Given the description of an element on the screen output the (x, y) to click on. 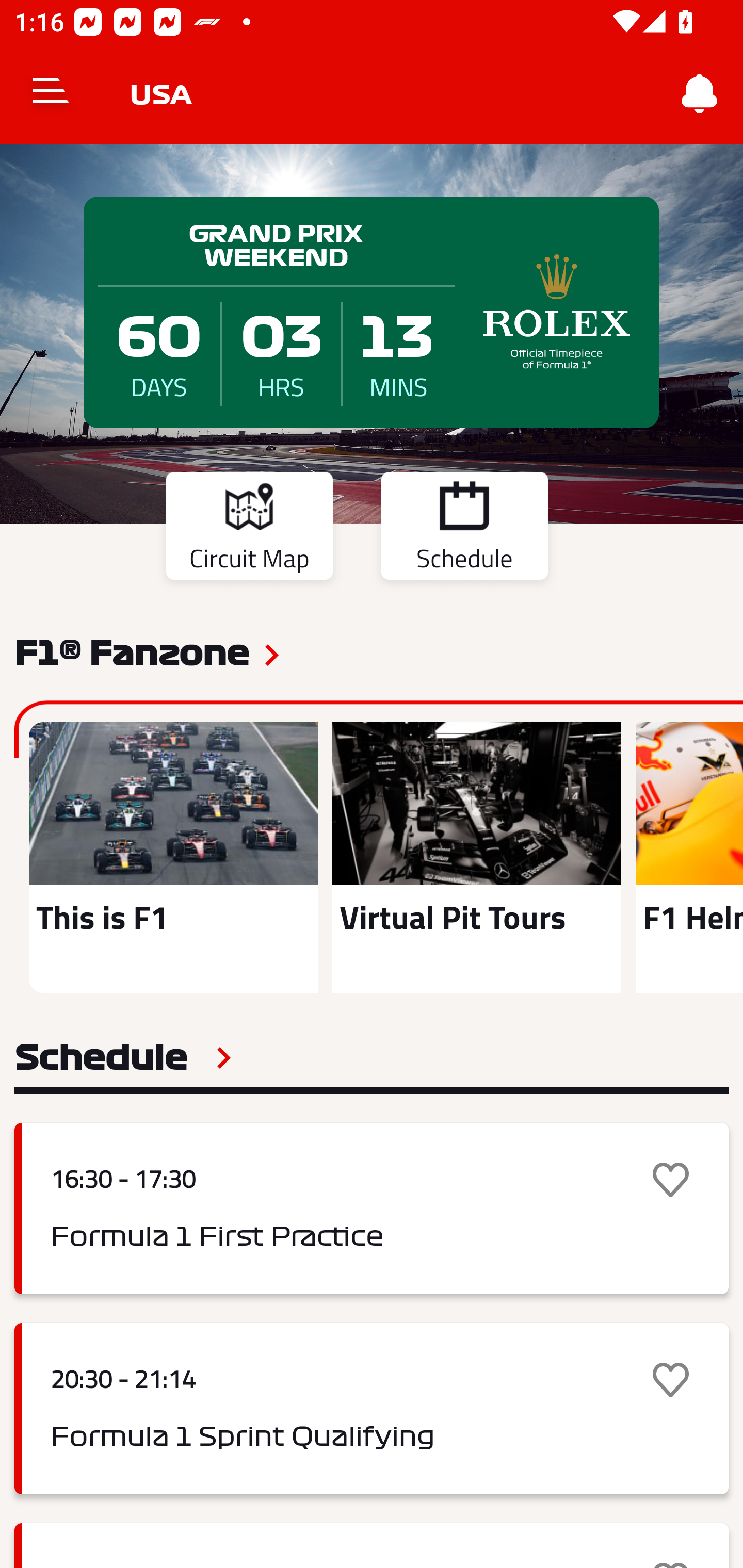
Navigate up (50, 93)
Notifications (699, 93)
Circuit Map (249, 528)
Schedule (464, 528)
F1® Fanzone (131, 651)
This is F1 (173, 857)
Virtual Pit Tours (476, 857)
Schedule (122, 1057)
16:30 - 17:30 Formula 1 First Practice (371, 1207)
20:30 - 21:14 Formula 1 Sprint Qualifying (371, 1408)
